Given the description of an element on the screen output the (x, y) to click on. 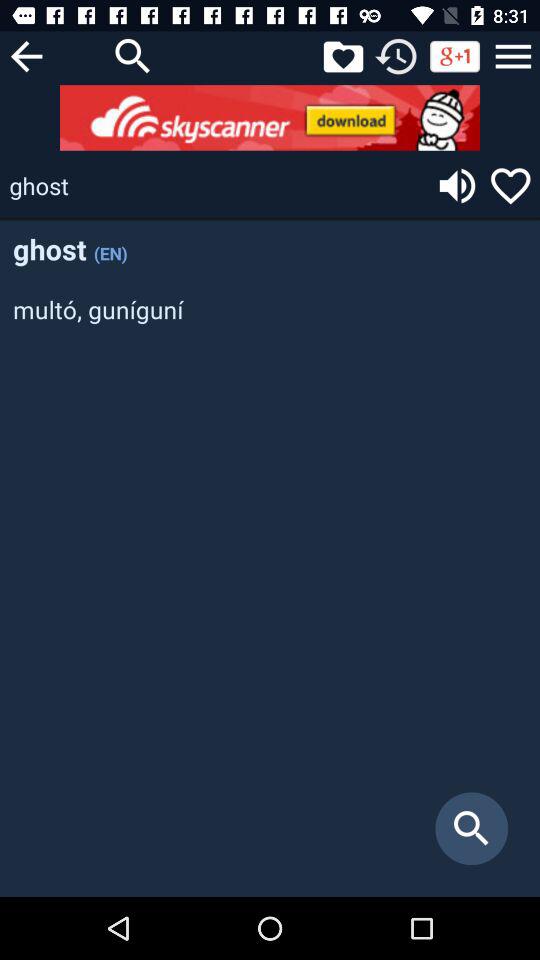
like (343, 56)
